Given the description of an element on the screen output the (x, y) to click on. 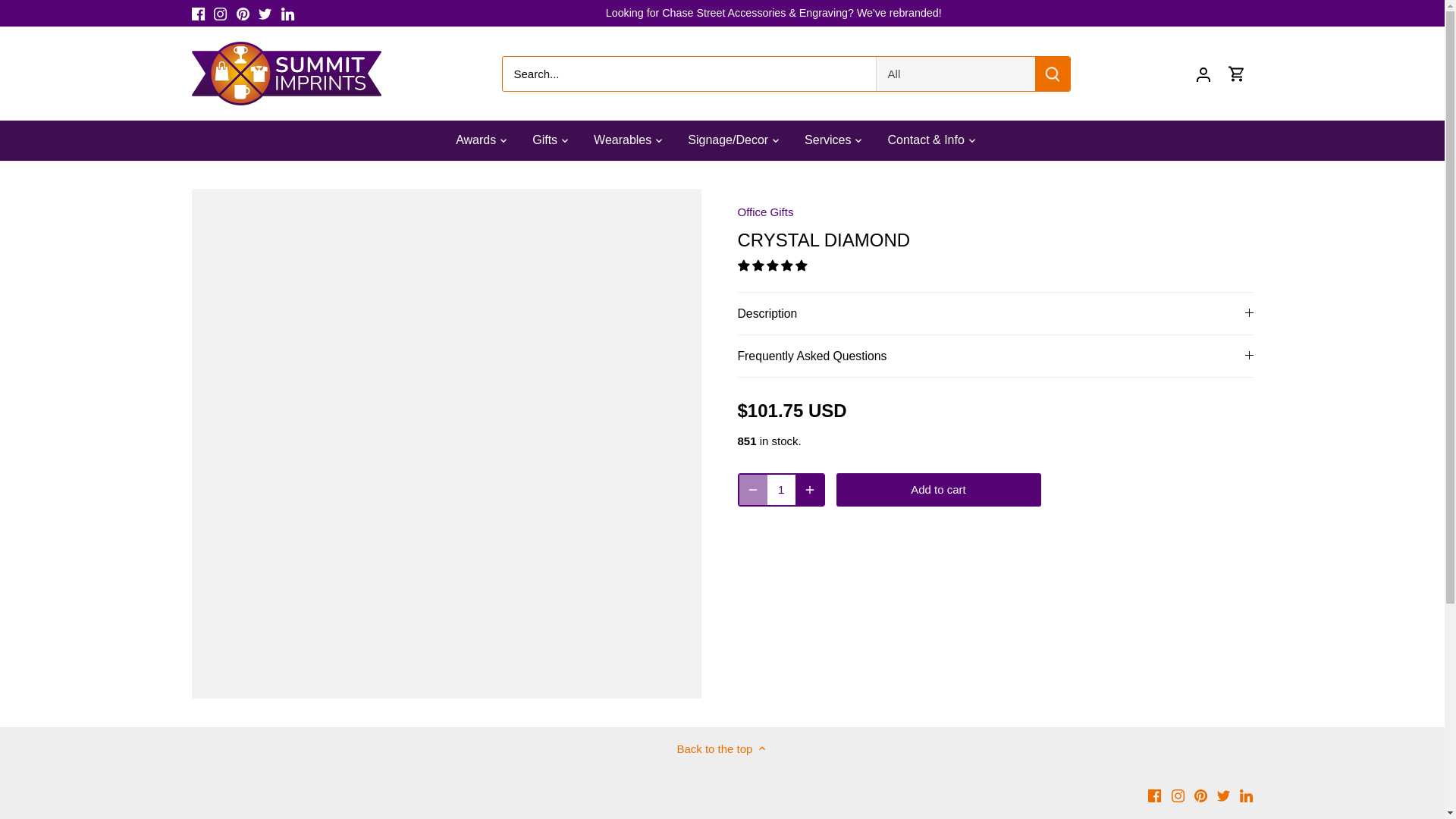
1 (781, 490)
Twitter (265, 13)
Gifts (544, 140)
Awards (481, 140)
Facebook (1154, 795)
Instagram (220, 13)
Facebook (196, 13)
Pinterest (241, 13)
Instagram (1178, 795)
Pinterest (1200, 795)
